Given the description of an element on the screen output the (x, y) to click on. 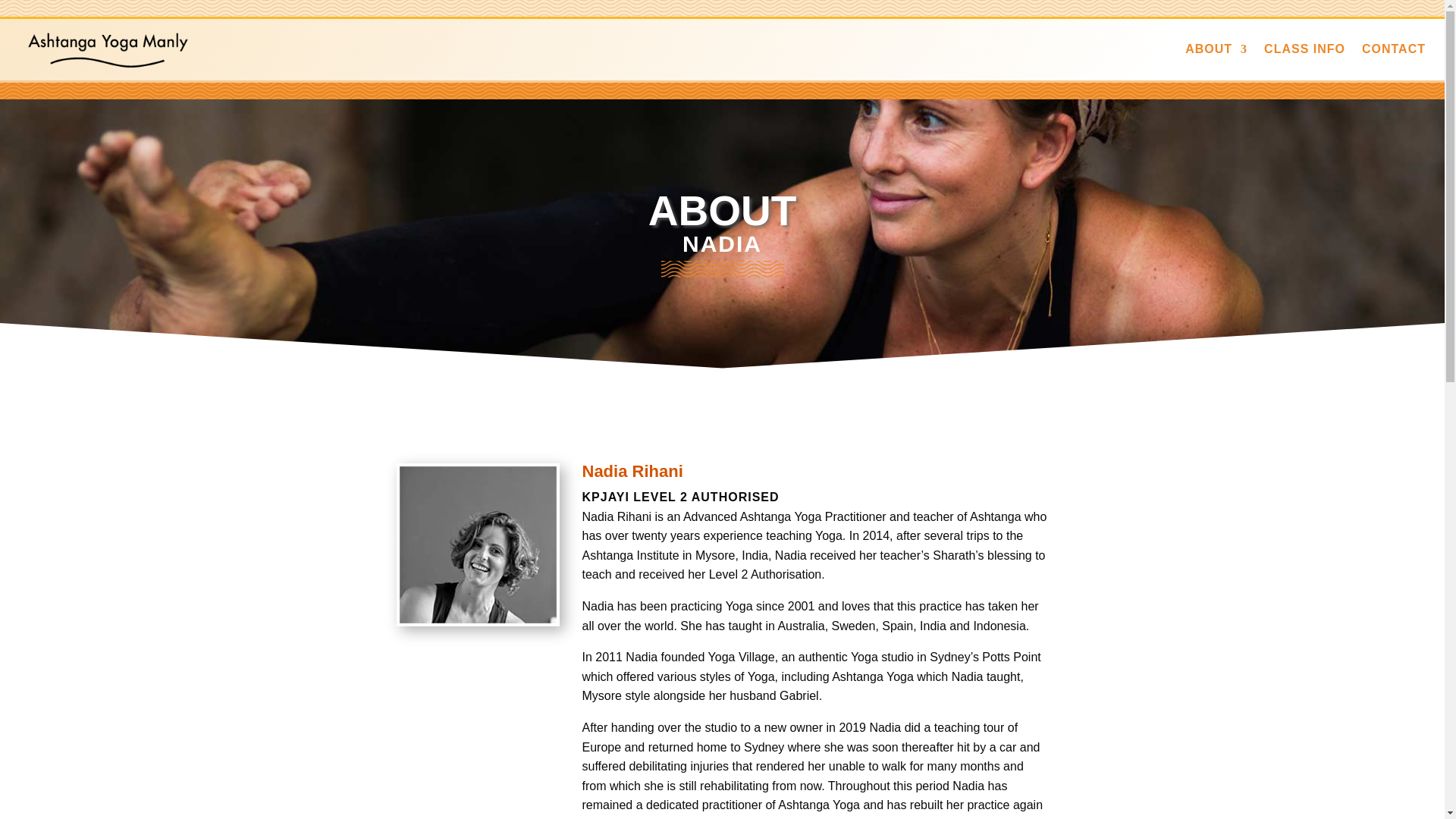
CLASS INFO (1304, 48)
ABOUT (1216, 48)
CONTACT (1393, 48)
